Given the description of an element on the screen output the (x, y) to click on. 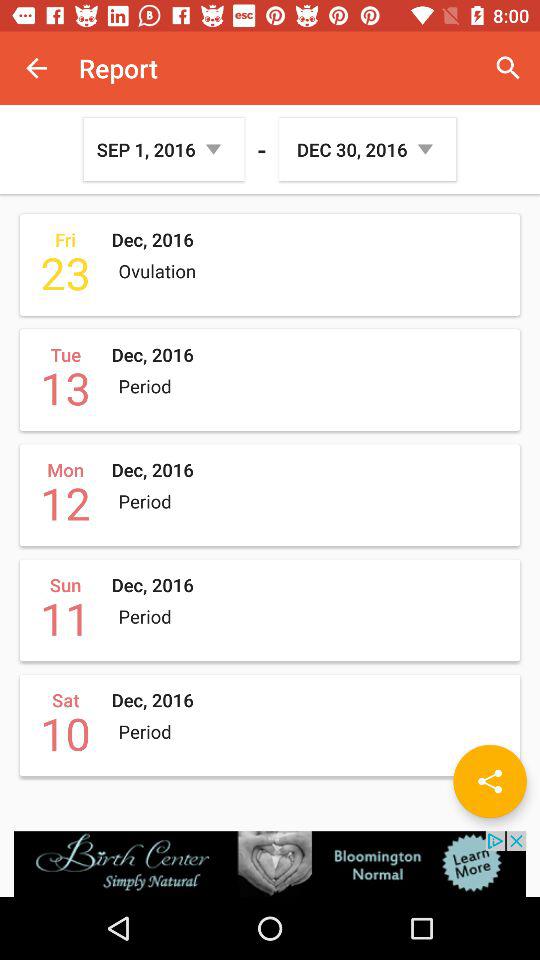
share button (489, 781)
